Given the description of an element on the screen output the (x, y) to click on. 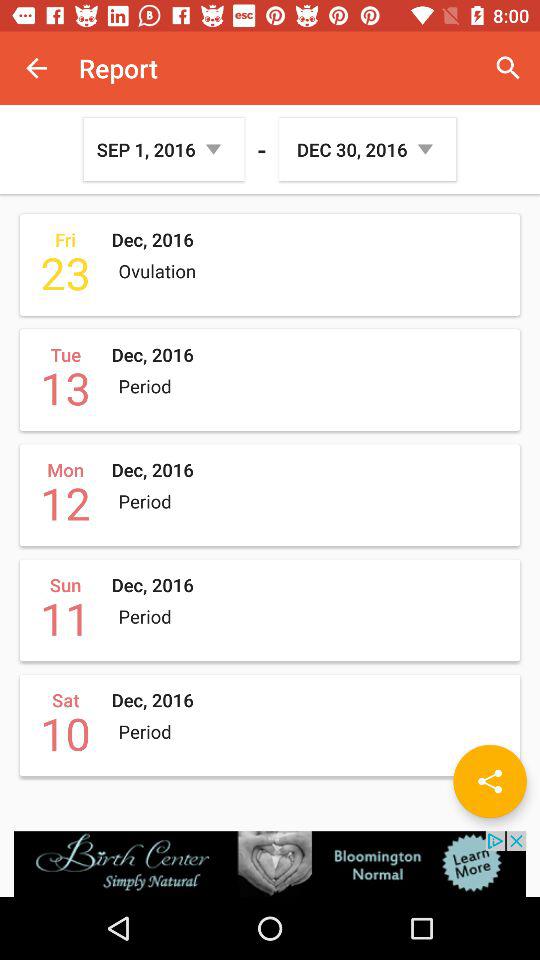
share button (489, 781)
